Given the description of an element on the screen output the (x, y) to click on. 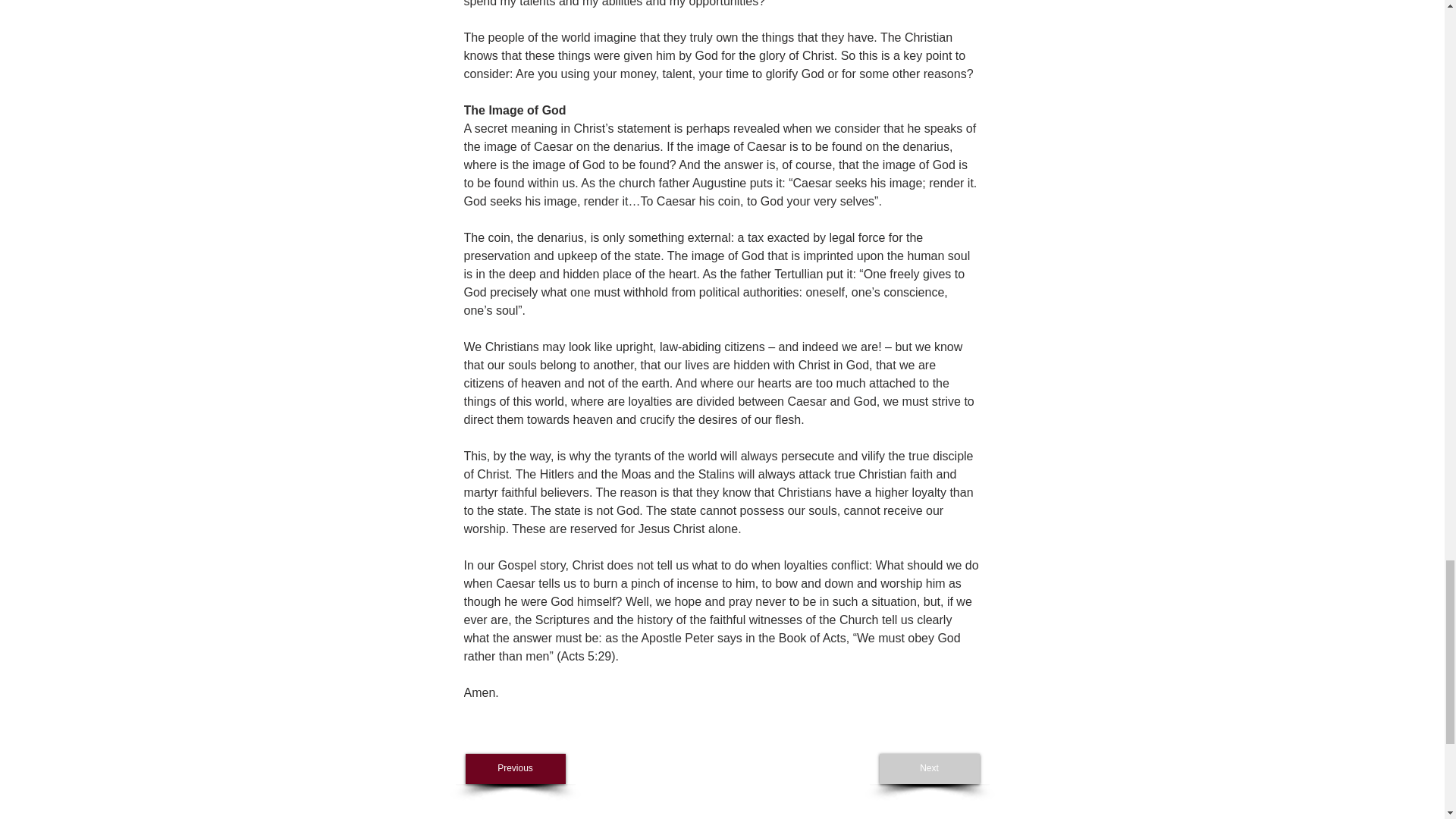
Next (929, 768)
Previous (515, 768)
